Given the description of an element on the screen output the (x, y) to click on. 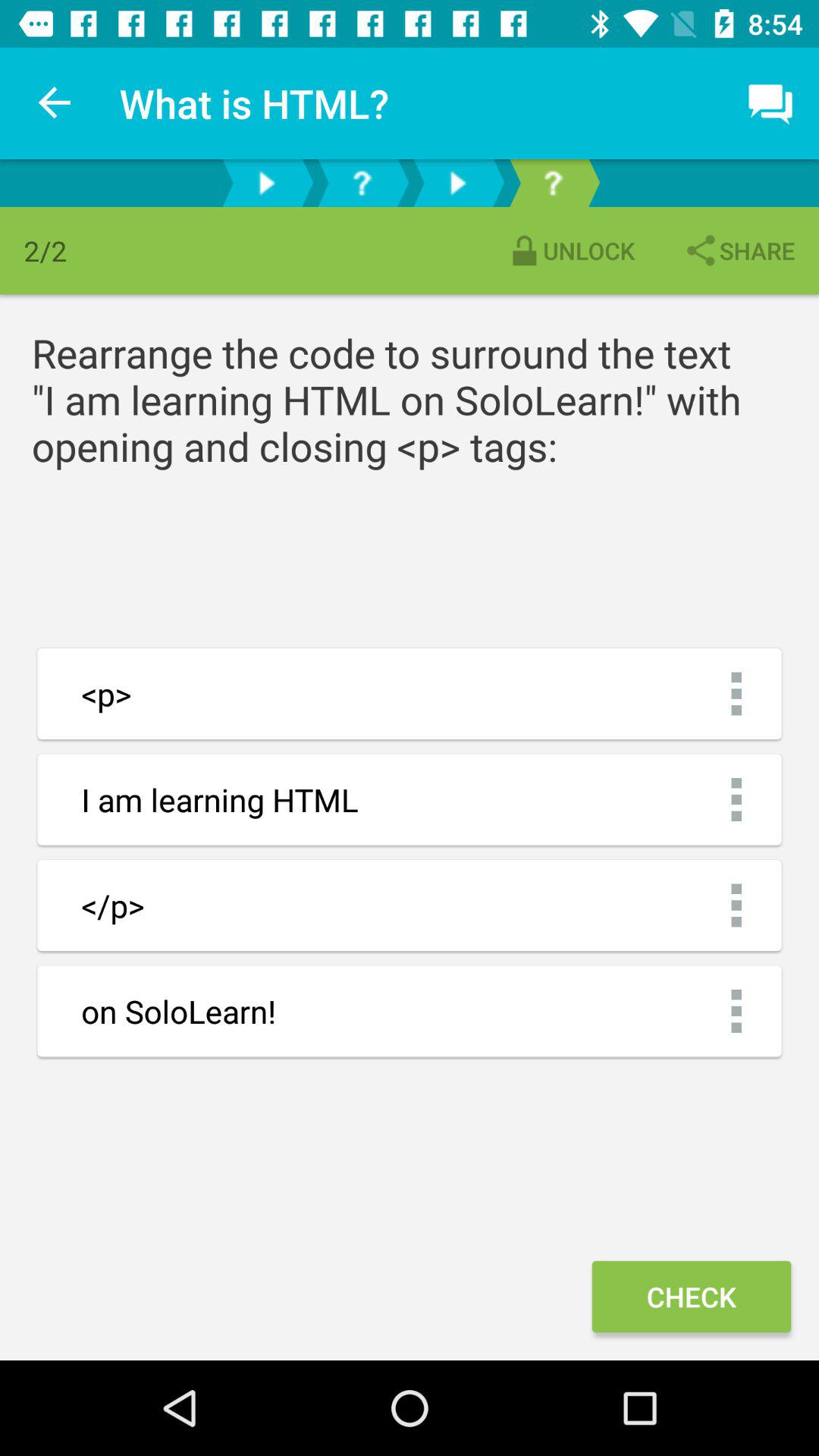
play lesson (265, 183)
